Given the description of an element on the screen output the (x, y) to click on. 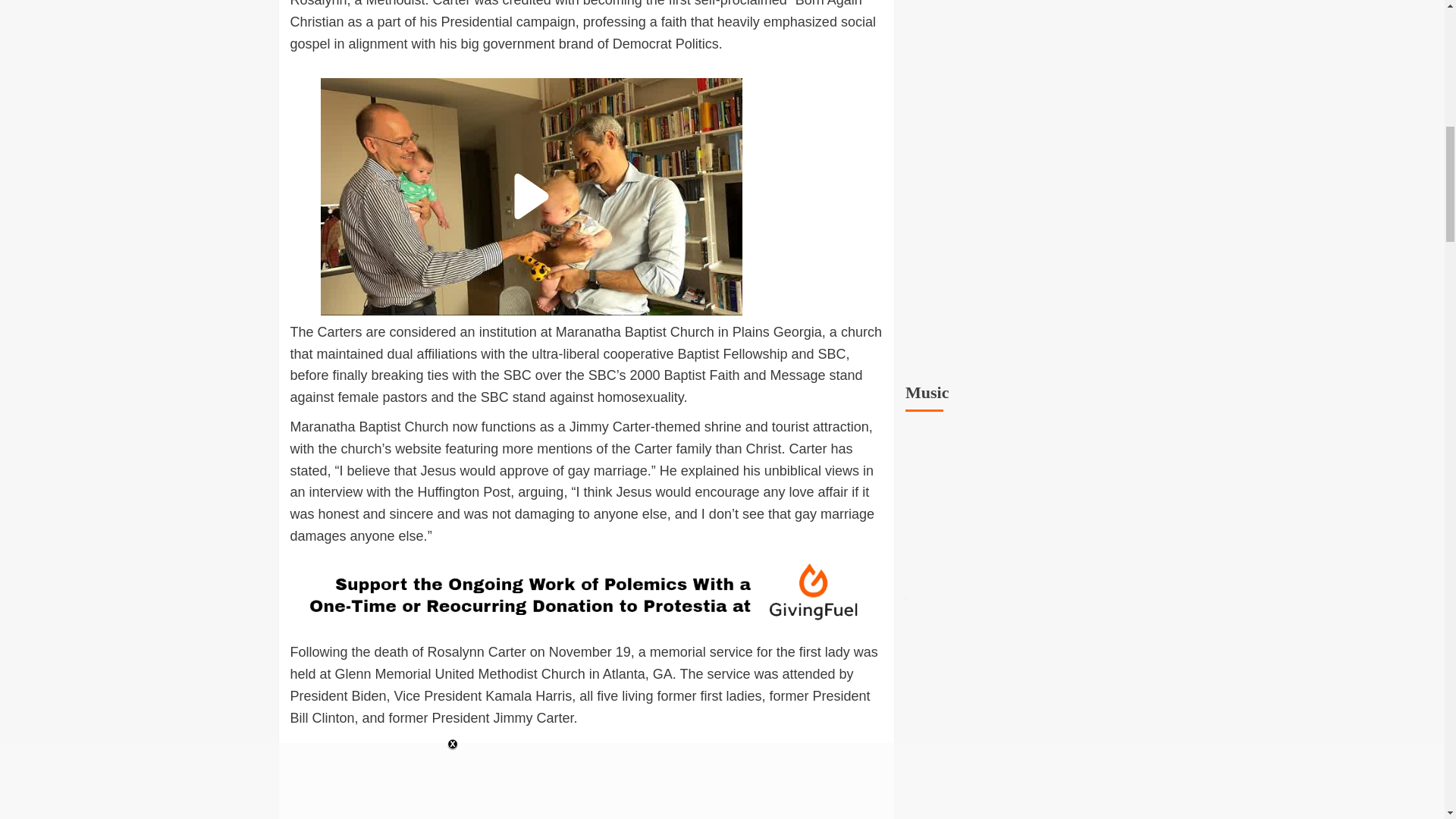
YouTube player (1035, 506)
